Given the description of an element on the screen output the (x, y) to click on. 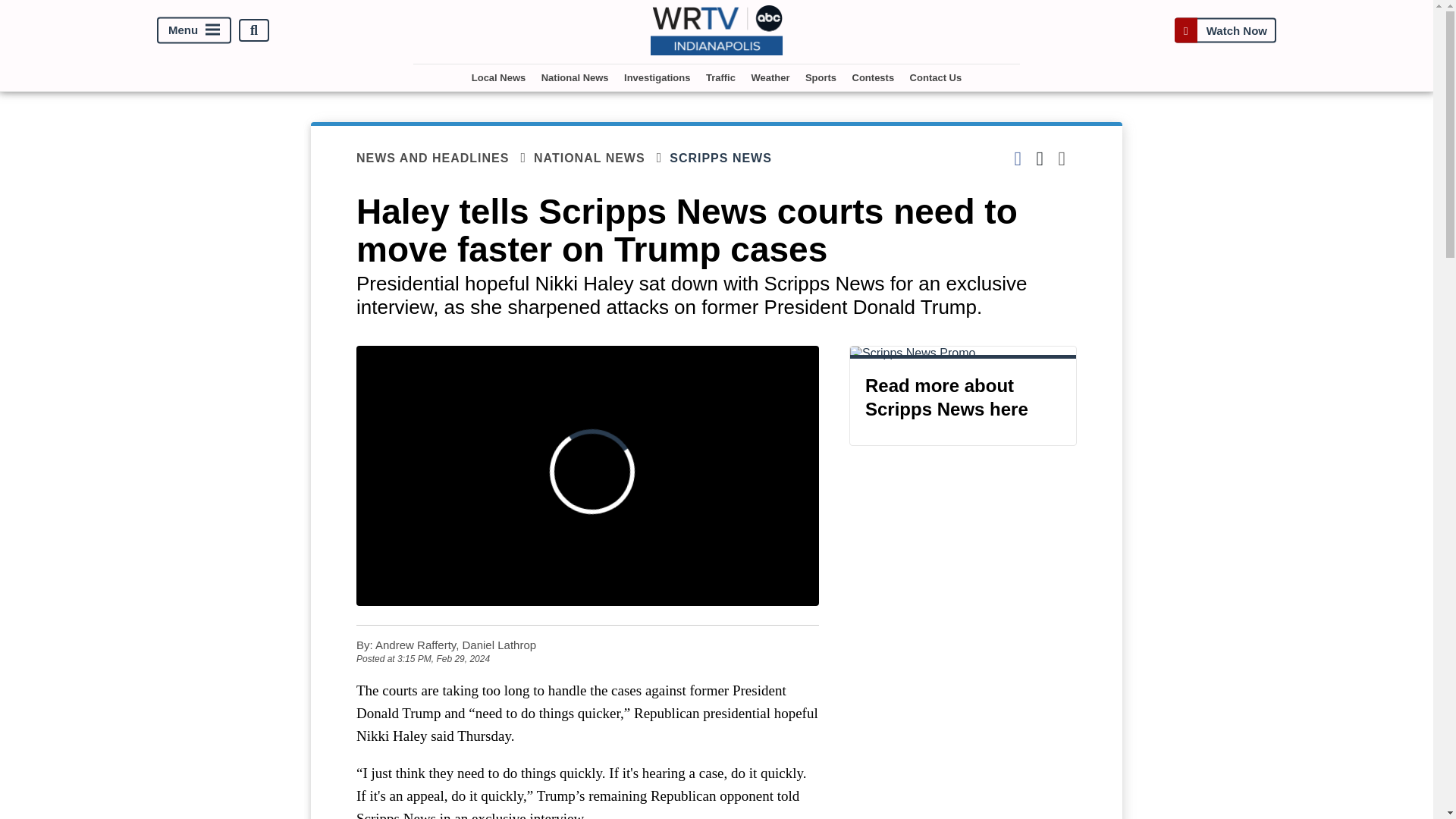
Watch Now (1224, 30)
Menu (194, 30)
